Given the description of an element on the screen output the (x, y) to click on. 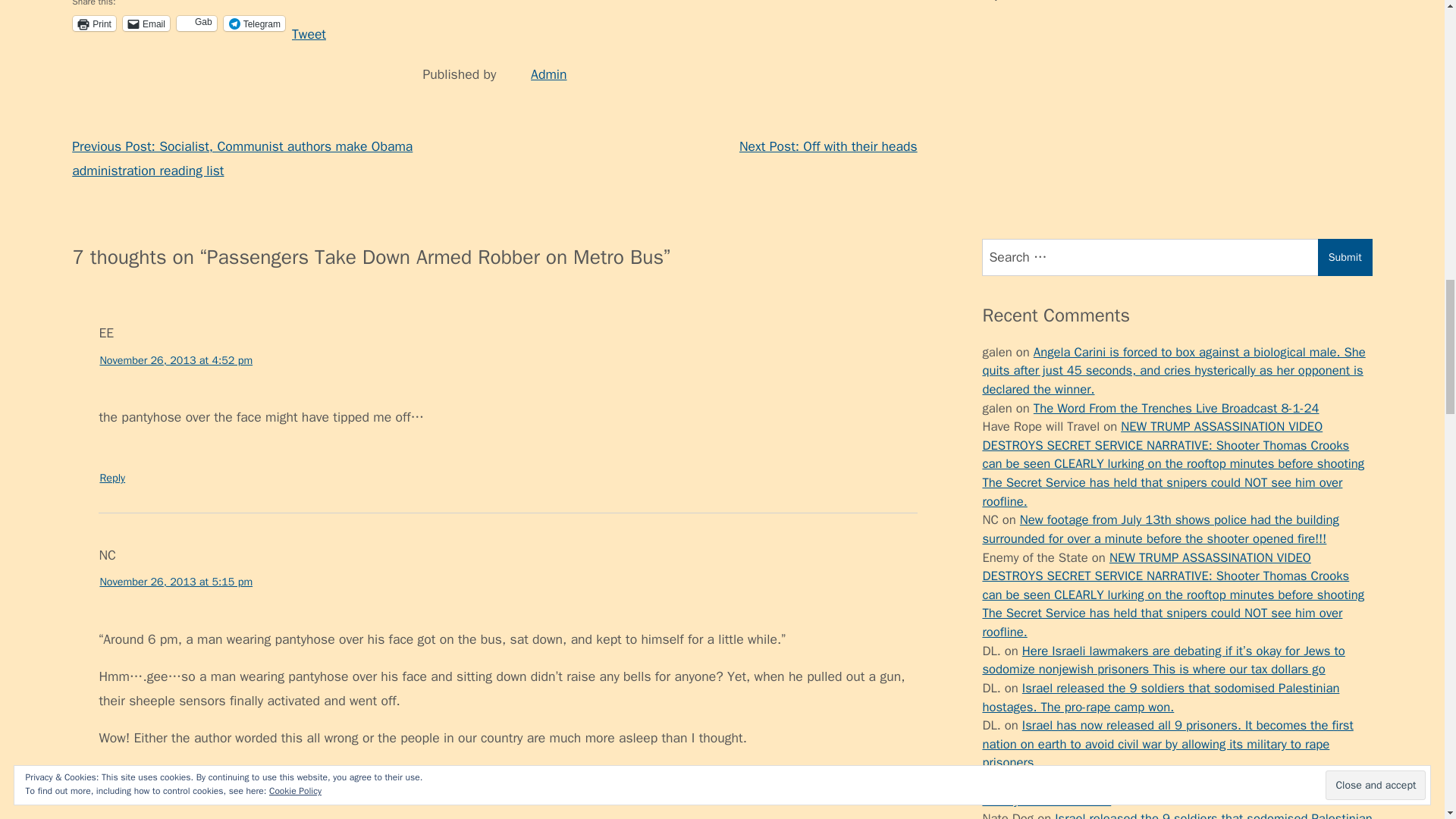
Print (94, 23)
Click to share on Gab (196, 23)
porno (997, 440)
Click to email a link to a friend (146, 23)
Click to print (94, 23)
Click to share on Telegram (254, 23)
